Given the description of an element on the screen output the (x, y) to click on. 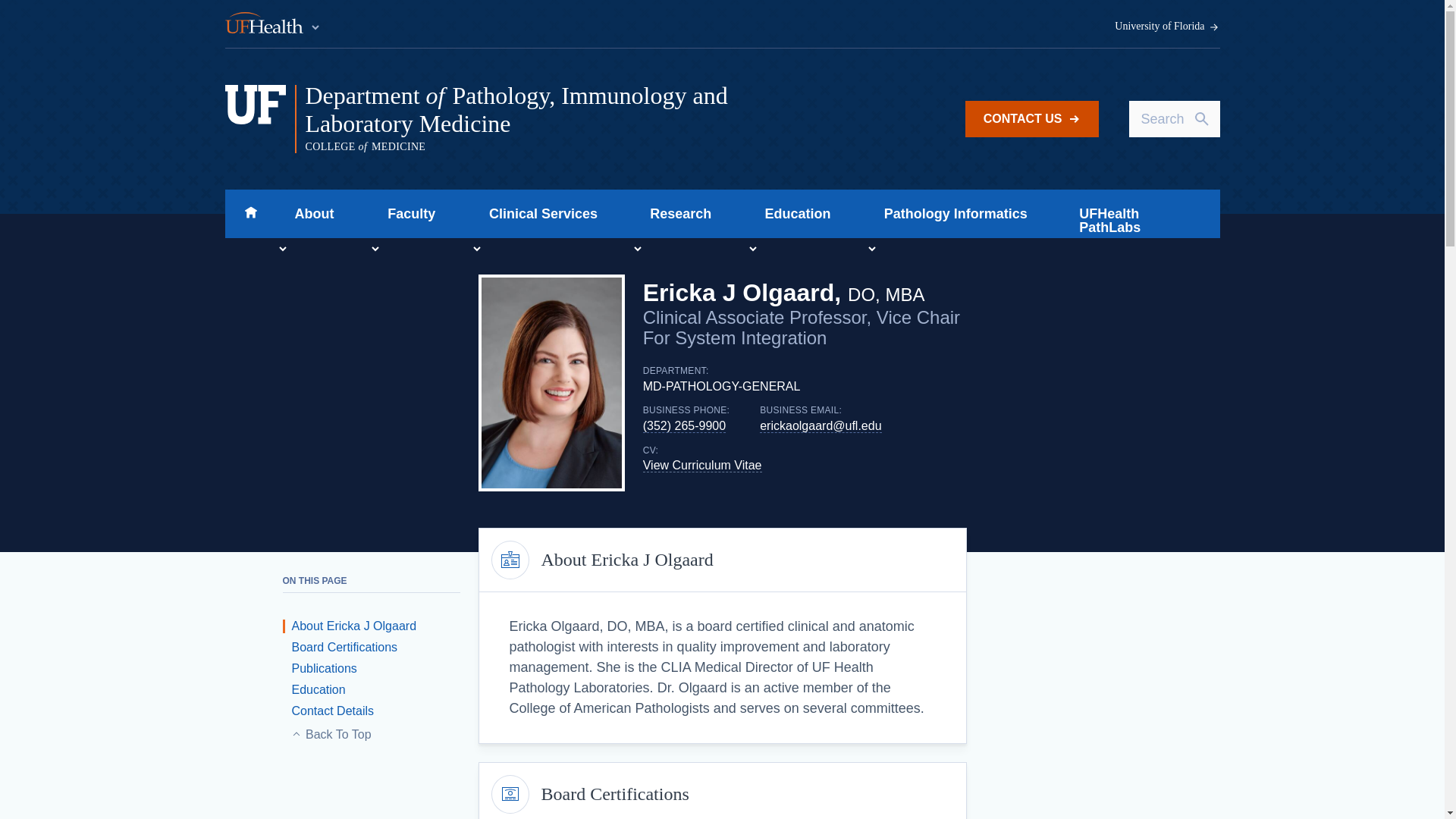
CONTACT US (1032, 118)
About (309, 213)
UF Health (272, 24)
Show submenu for Faculty (375, 249)
Home (250, 213)
Show submenu for About (282, 249)
Research (675, 213)
University of Florida (1167, 26)
Faculty (406, 213)
Clinical Services (538, 213)
Show submenu for Clinical Services (476, 249)
